Given the description of an element on the screen output the (x, y) to click on. 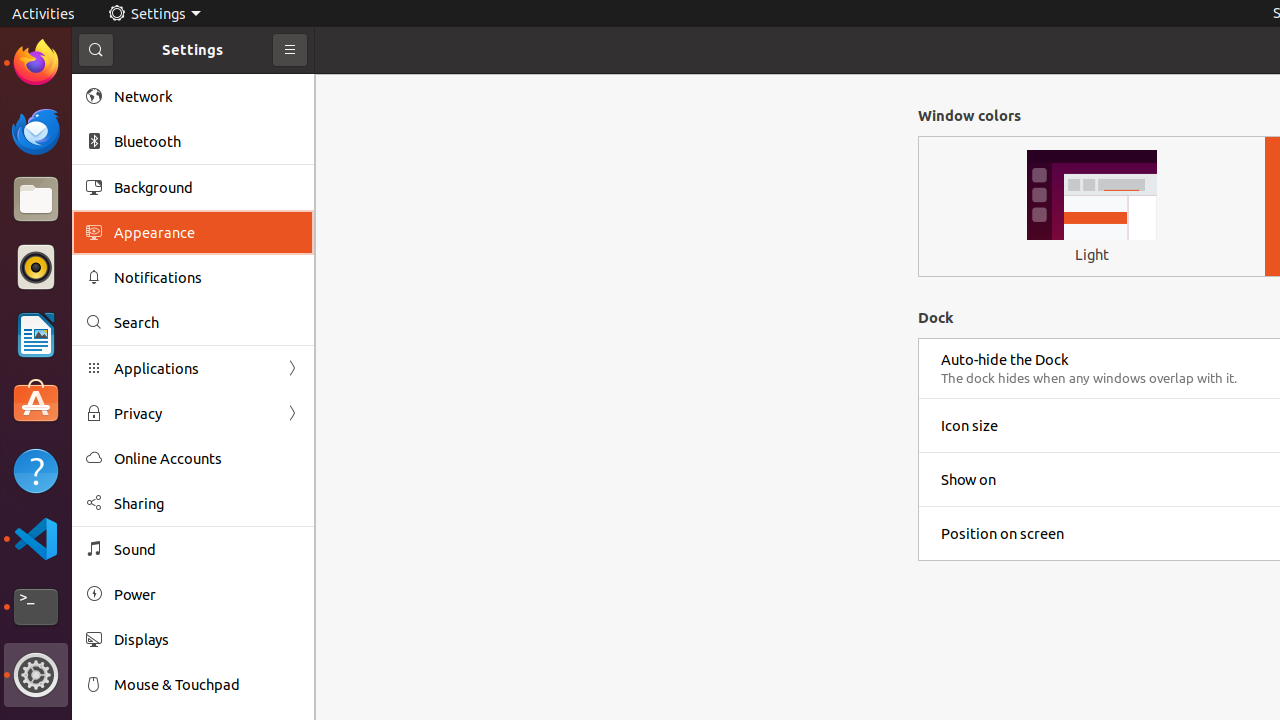
Show on Element type: label (968, 479)
Activities Element type: label (43, 13)
Trash Element type: label (133, 191)
Auto-hide the Dock Element type: label (1005, 359)
Background Element type: label (207, 187)
